Given the description of an element on the screen output the (x, y) to click on. 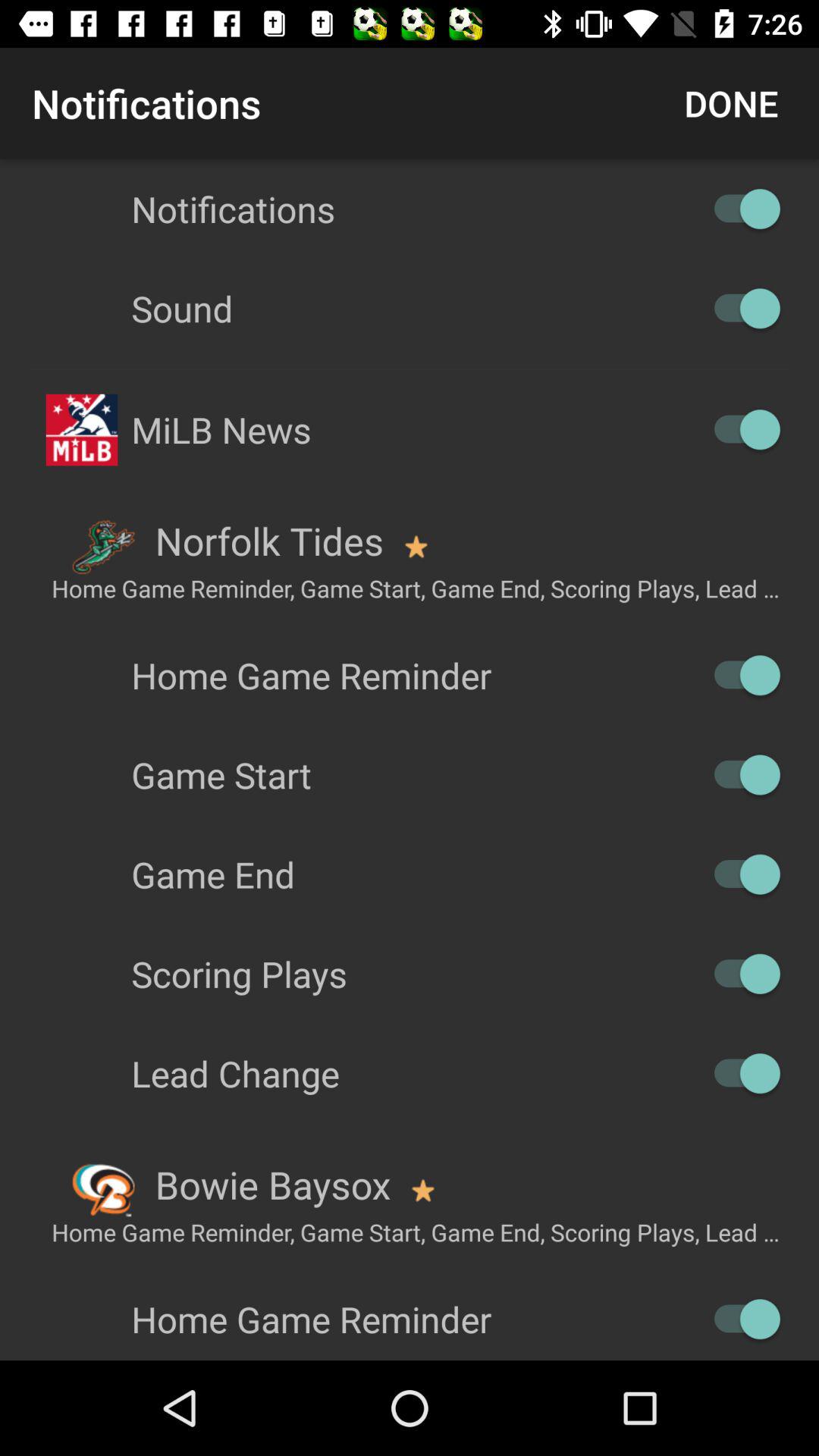
turn on done button (731, 103)
